Given the description of an element on the screen output the (x, y) to click on. 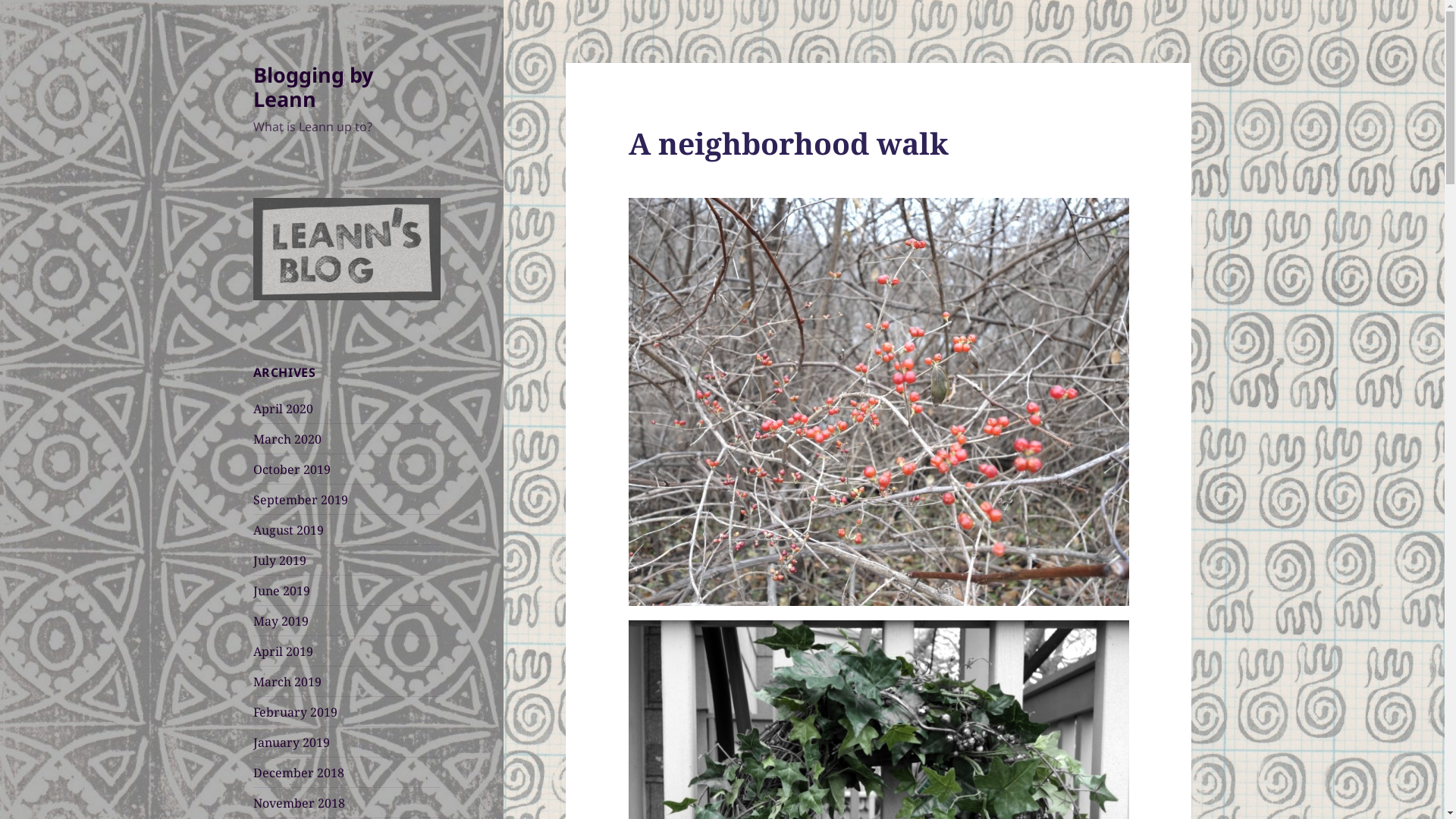
December 2018 Element type: text (298, 772)
March 2019 Element type: text (287, 681)
May 2019 Element type: text (280, 620)
November 2018 Element type: text (299, 802)
Blogging by Leann Element type: text (313, 86)
October 2019 Element type: text (291, 469)
July 2019 Element type: text (279, 560)
June 2019 Element type: text (281, 590)
March 2020 Element type: text (287, 438)
April 2020 Element type: text (283, 408)
August 2019 Element type: text (288, 529)
January 2019 Element type: text (291, 742)
April 2019 Element type: text (283, 651)
February 2019 Element type: text (295, 711)
September 2019 Element type: text (300, 499)
